Given the description of an element on the screen output the (x, y) to click on. 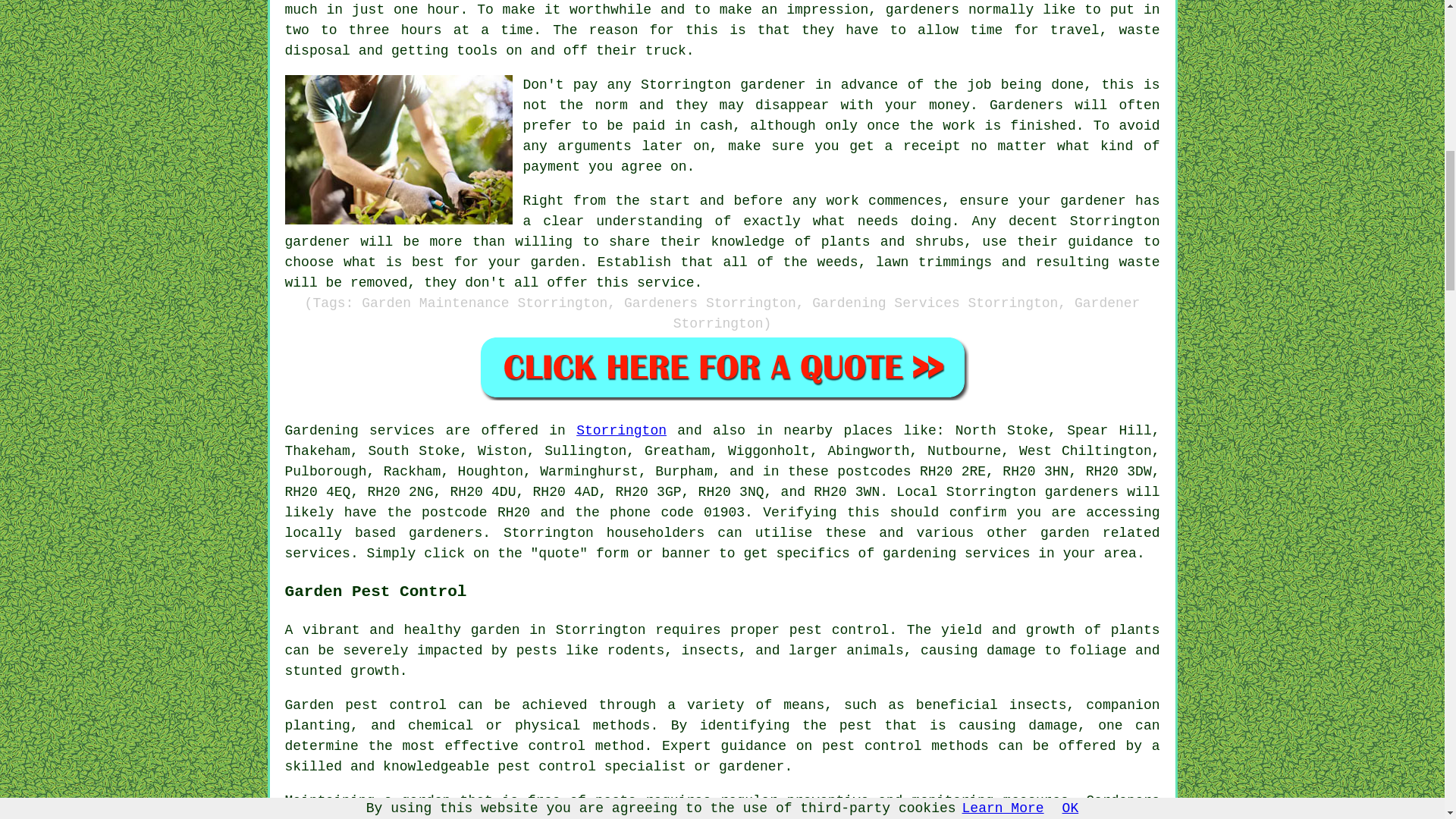
gardeners (445, 532)
gardeners (1081, 491)
pest control (871, 745)
Gardening services (360, 430)
Quotes From Storrington Gardeners (722, 367)
